Given the description of an element on the screen output the (x, y) to click on. 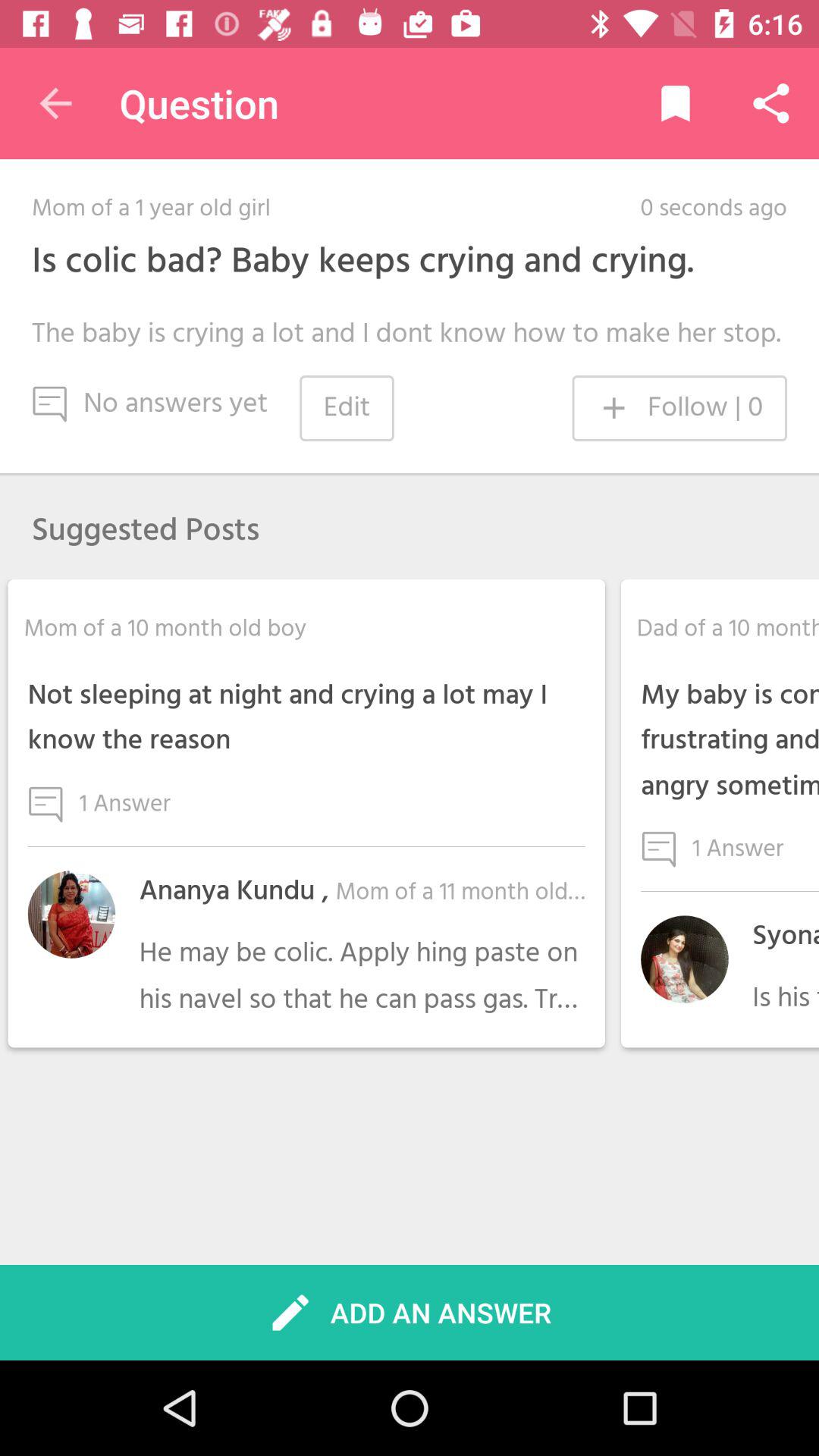
flip until edit item (346, 408)
